Given the description of an element on the screen output the (x, y) to click on. 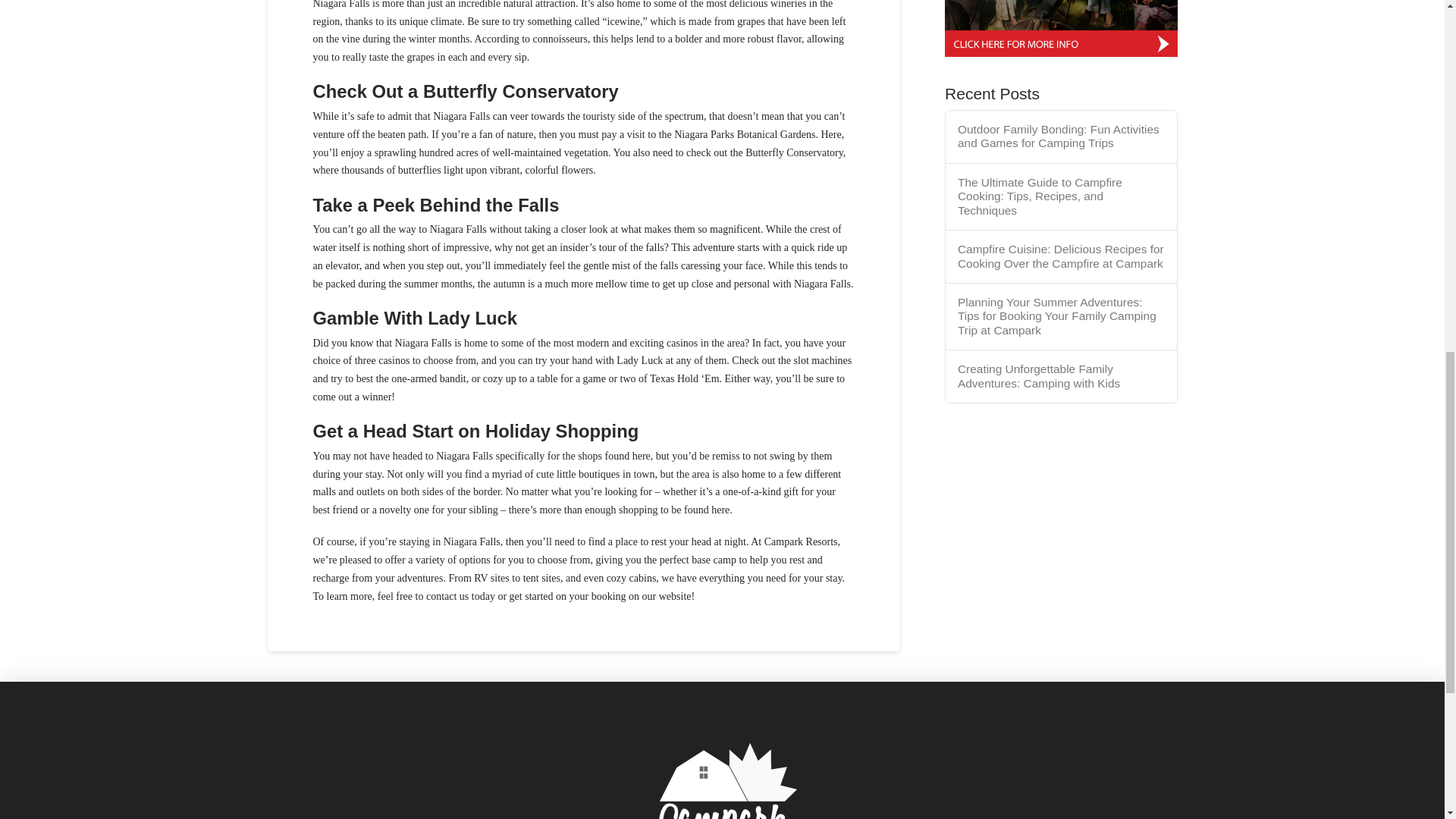
your booking (597, 595)
contact us today (460, 595)
Creating Unforgettable Family Adventures: Camping with Kids (1061, 376)
